Given the description of an element on the screen output the (x, y) to click on. 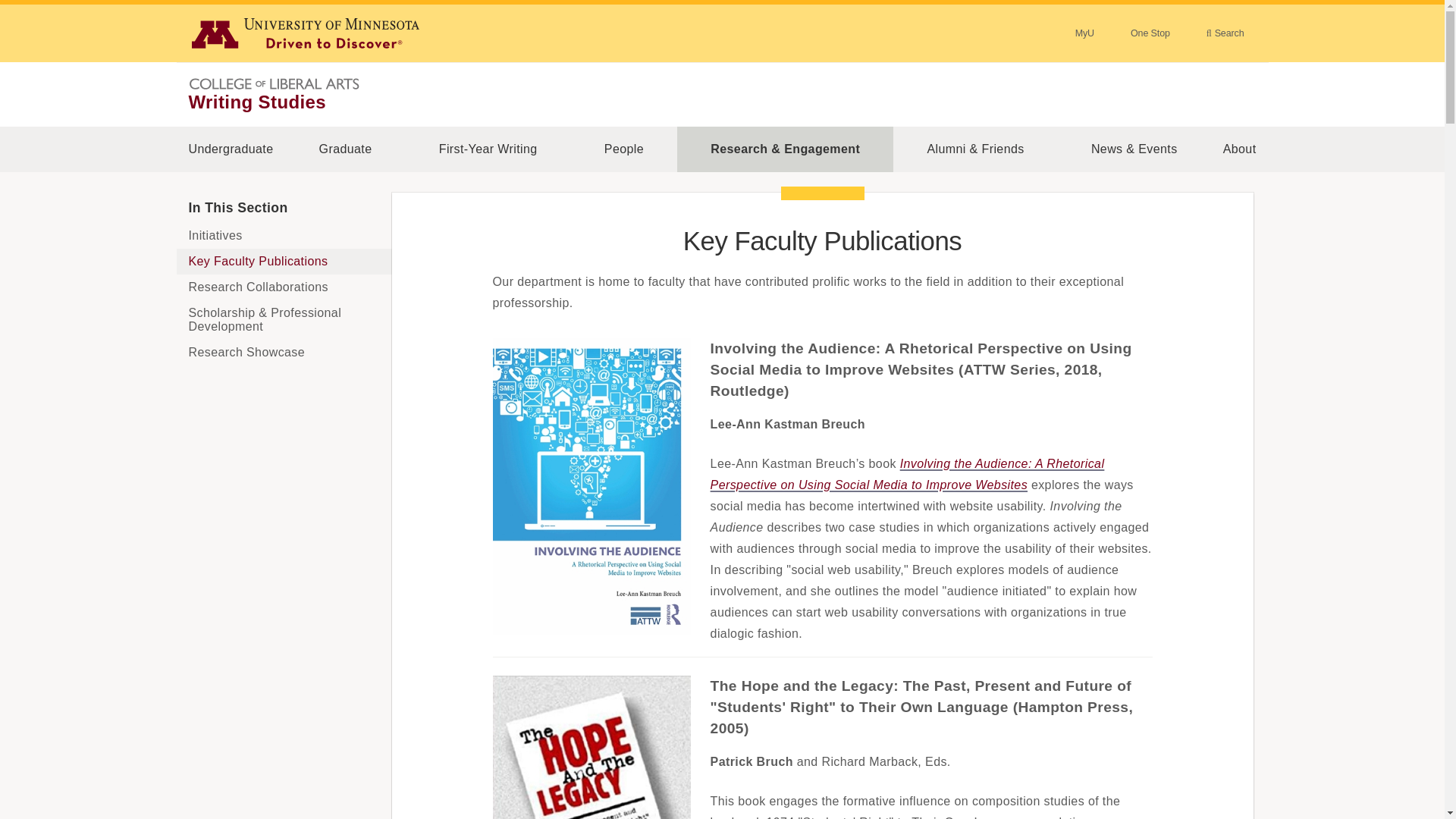
Search (1224, 32)
Research Showcase (283, 352)
Initiatives (283, 235)
People (623, 148)
First-Year Writing (488, 148)
Key Faculty Publications (283, 261)
Skip to main content (8, 9)
One Stop (1150, 32)
Research Collaborations (283, 287)
Graduate (344, 148)
MyU (1084, 32)
Toggle Search Region Visisbility (1224, 32)
Writing Studies (256, 101)
About (1239, 148)
